Given the description of an element on the screen output the (x, y) to click on. 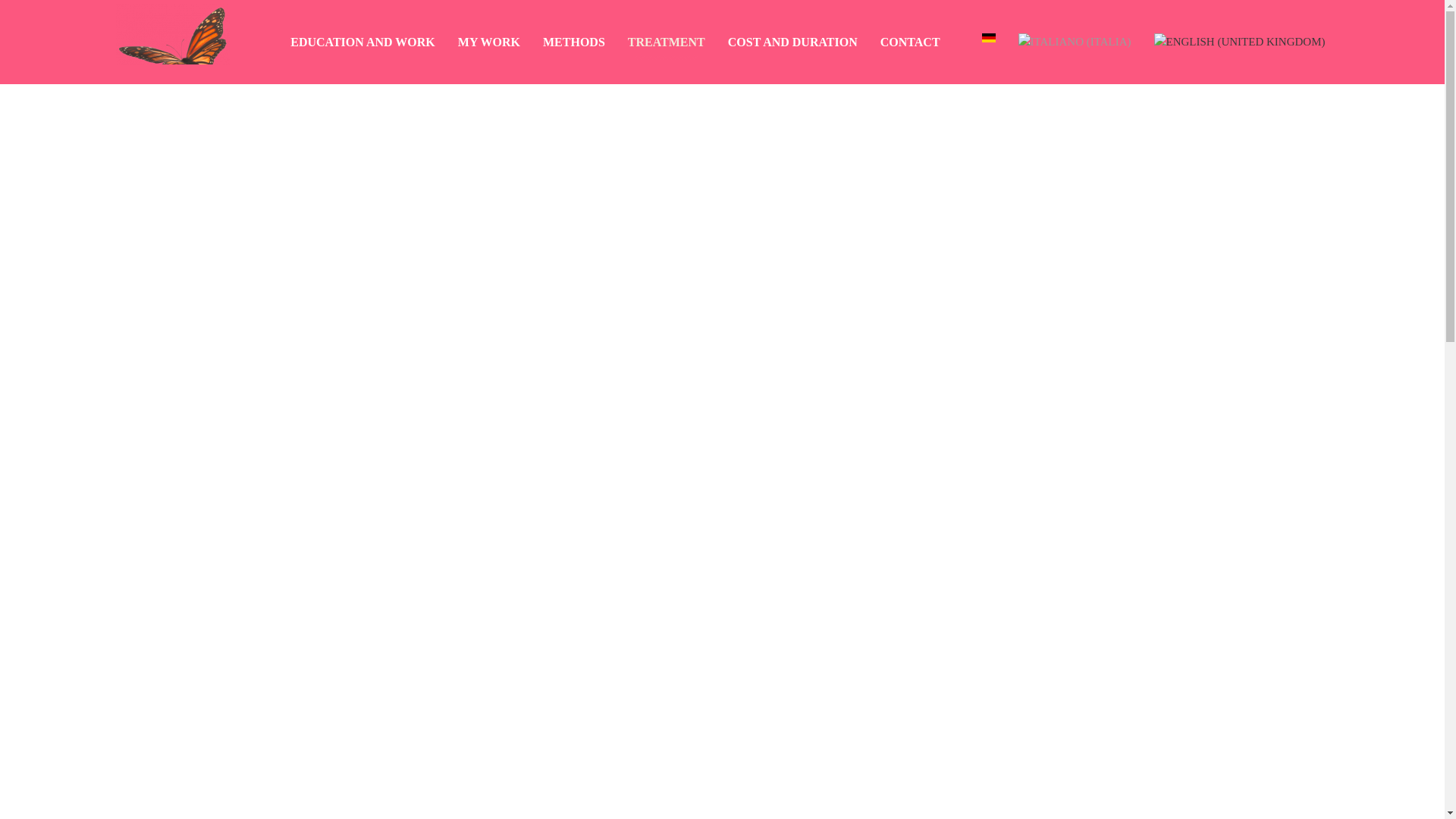
TREATMENT (665, 42)
EDUCATION AND WORK (362, 42)
COST AND DURATION (792, 42)
MY WORK (488, 42)
CONTACT (910, 42)
METHODS (573, 42)
